Given the description of an element on the screen output the (x, y) to click on. 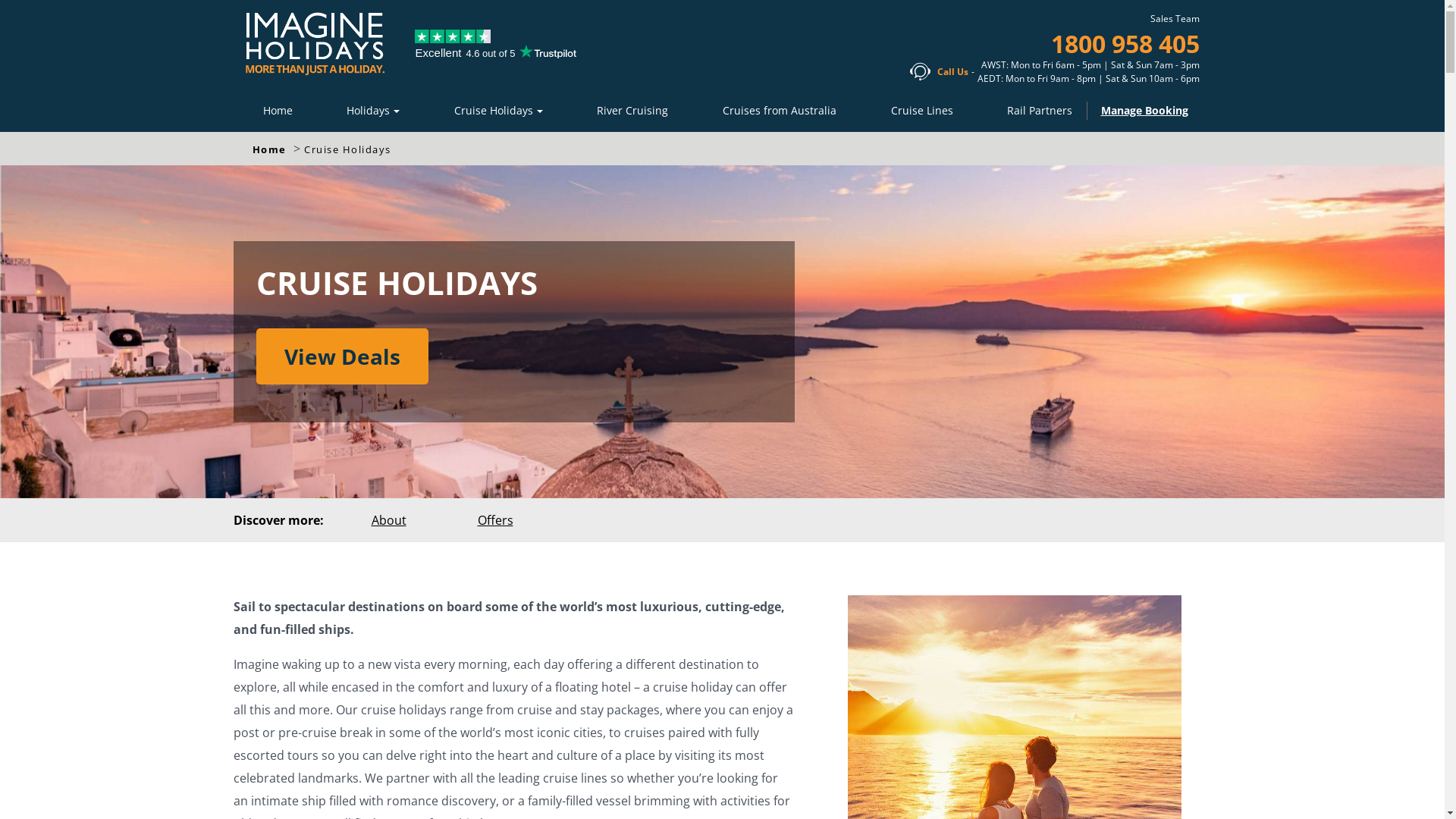
Home Element type: text (277, 110)
Holidays Element type: text (372, 110)
Customer reviews powered by Trustpilot Element type: hover (452, 35)
Cruises from Australia Element type: text (779, 110)
Manage Booking Element type: text (1141, 110)
Cruise Holidays Element type: text (498, 110)
About Element type: text (387, 519)
Cruise Lines Element type: text (921, 110)
River Cruising Element type: text (632, 110)
1800 958 405 Element type: text (1125, 43)
Offers Element type: text (494, 519)
Rail Partners Element type: text (1039, 110)
View Deals Element type: text (342, 356)
Home Element type: text (270, 149)
Customer reviews powered by Trustpilot Element type: hover (495, 54)
Call Us Element type: text (952, 71)
